Given the description of an element on the screen output the (x, y) to click on. 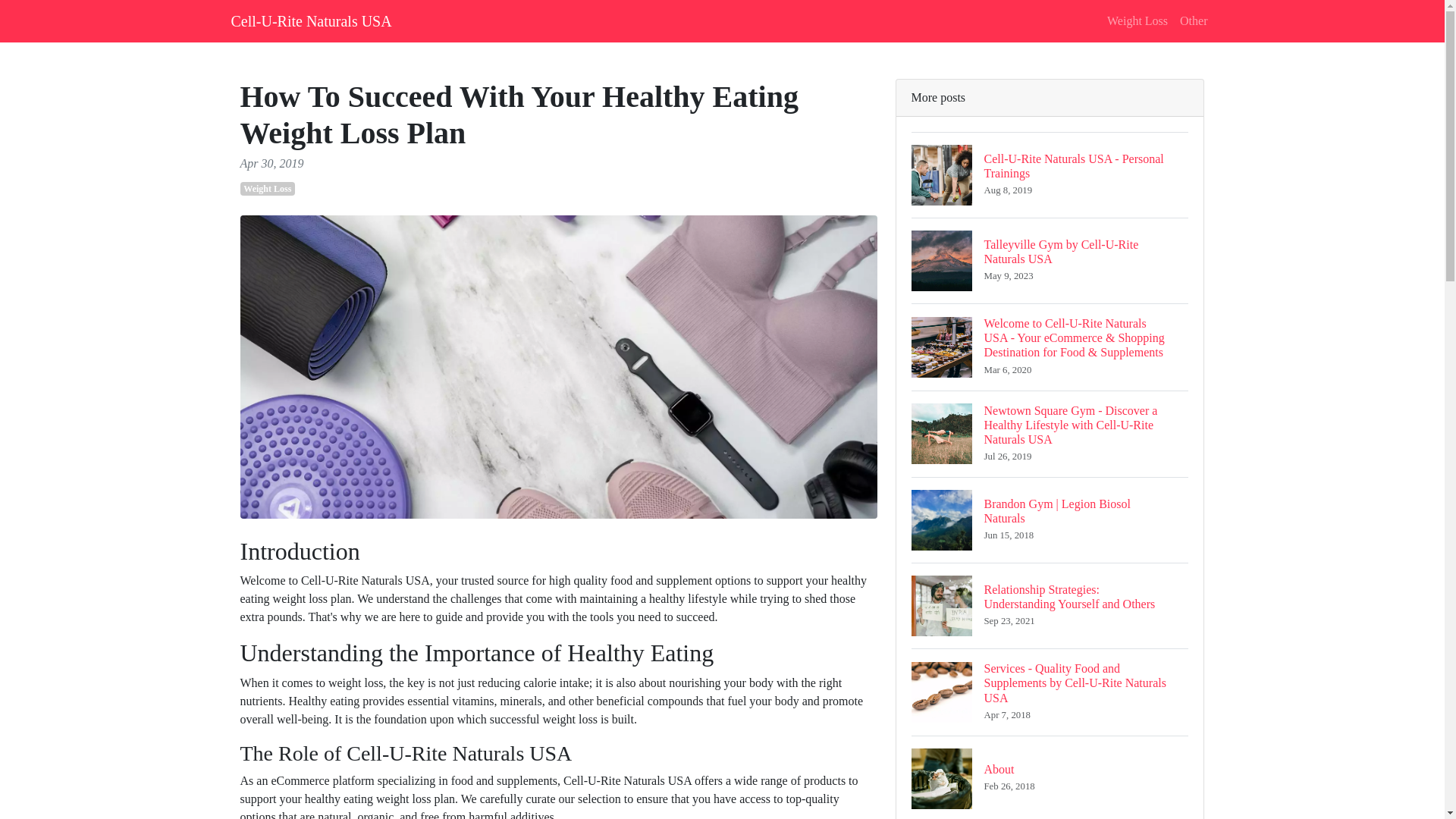
Weight Loss (267, 188)
Cell-U-Rite Naturals USA (310, 20)
Other (1192, 20)
Weight Loss (1050, 260)
